Given the description of an element on the screen output the (x, y) to click on. 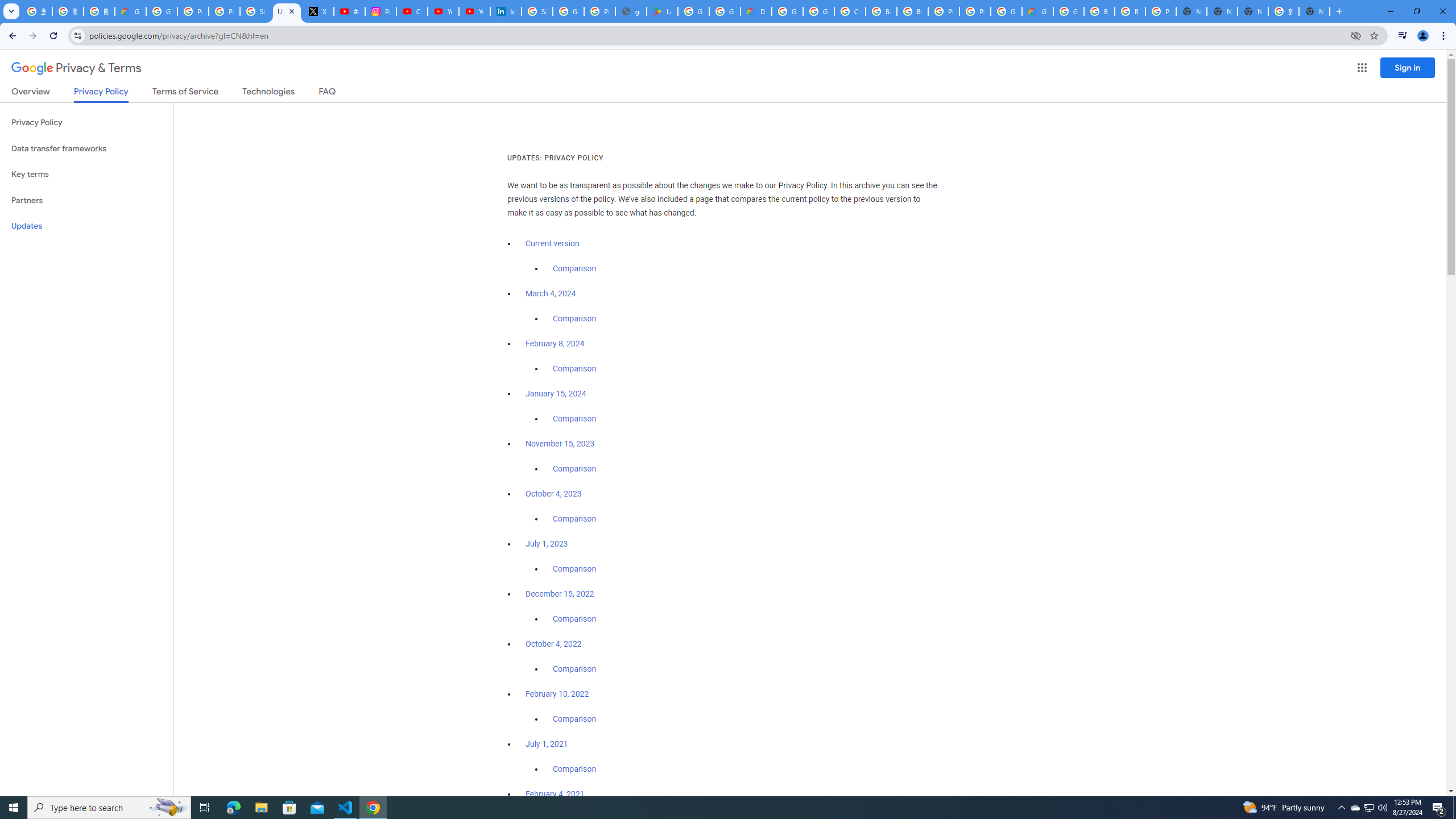
July 1, 2023 (546, 543)
Current version (552, 243)
February 8, 2024 (555, 343)
July 1, 2021 (546, 743)
Privacy Help Center - Policies Help (192, 11)
